Given the description of an element on the screen output the (x, y) to click on. 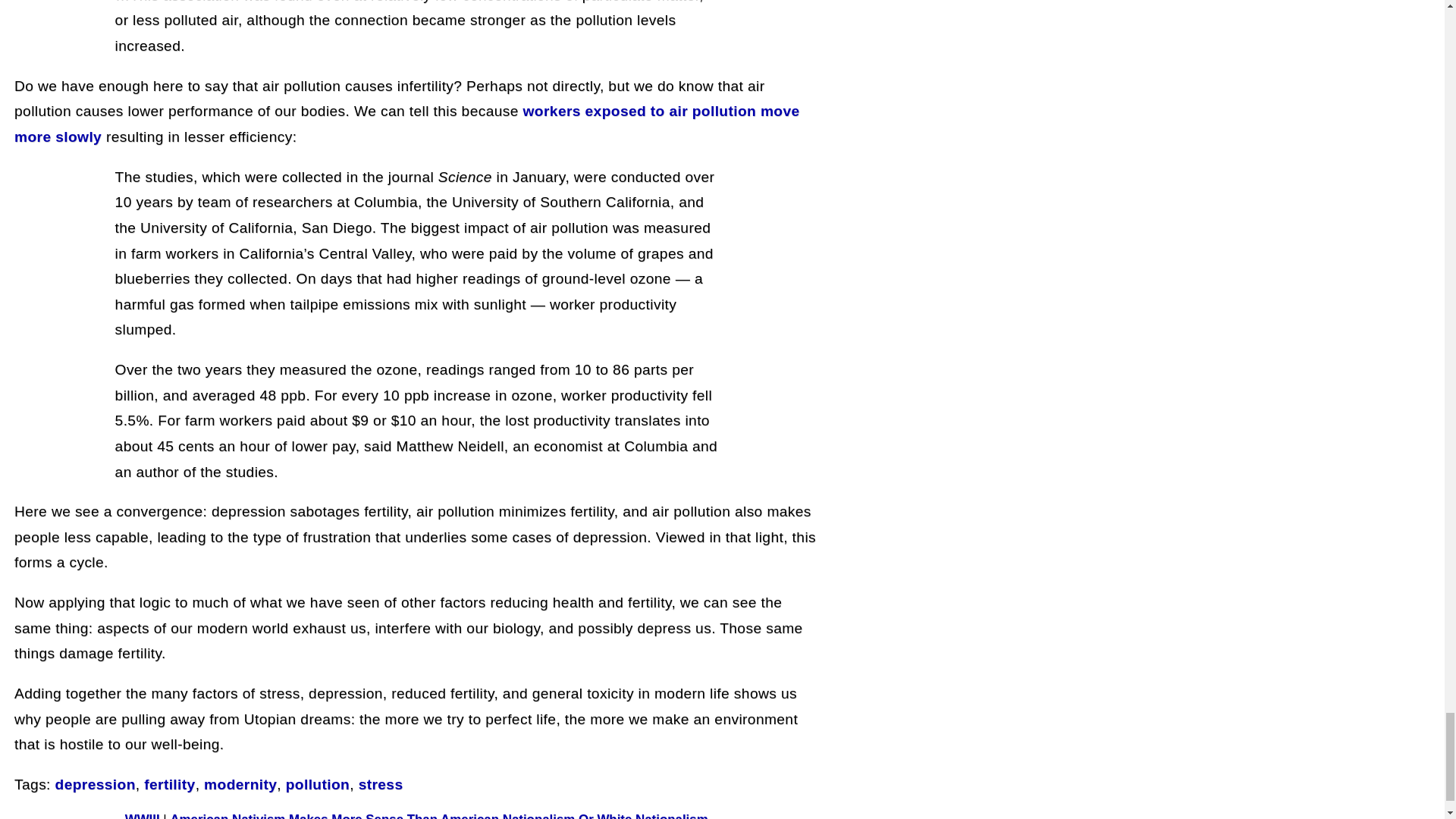
fertility (169, 784)
stress (380, 784)
modernity (239, 784)
pollution (317, 784)
depression (95, 784)
WWIII (142, 815)
workers exposed to air pollution move more slowly (406, 123)
